Given the description of an element on the screen output the (x, y) to click on. 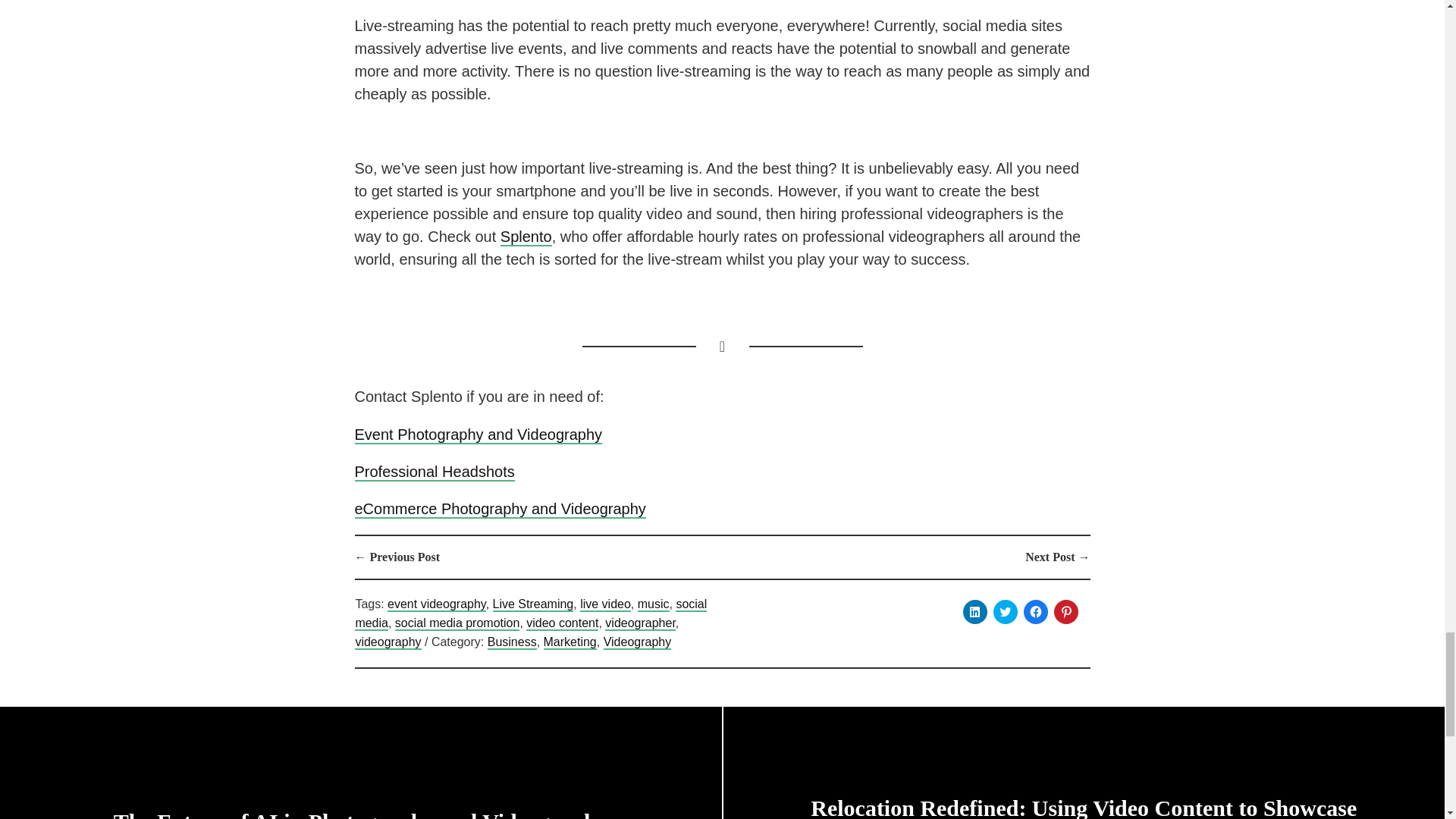
Click to share on Facebook (1035, 611)
Click to share on Twitter (1004, 611)
event videography (436, 604)
live video (604, 604)
Click to share on LinkedIn (974, 611)
Event Photography and Videography (478, 434)
Professional Headshots (435, 472)
eCommerce Photography and Videography (500, 509)
Splento (525, 237)
Click to share on Pinterest (1066, 611)
